Given the description of an element on the screen output the (x, y) to click on. 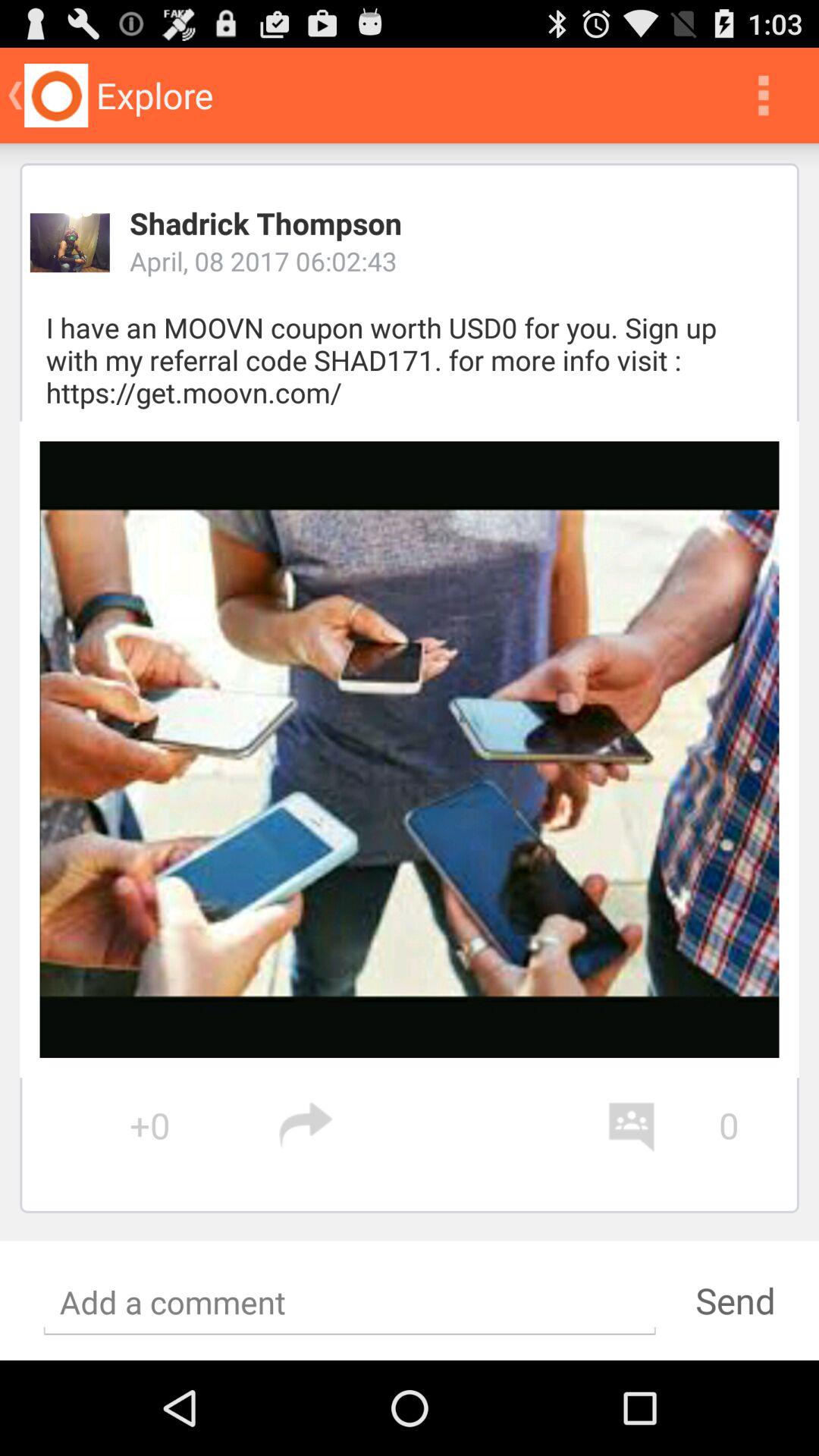
tap app below the no activity! (735, 1300)
